Given the description of an element on the screen output the (x, y) to click on. 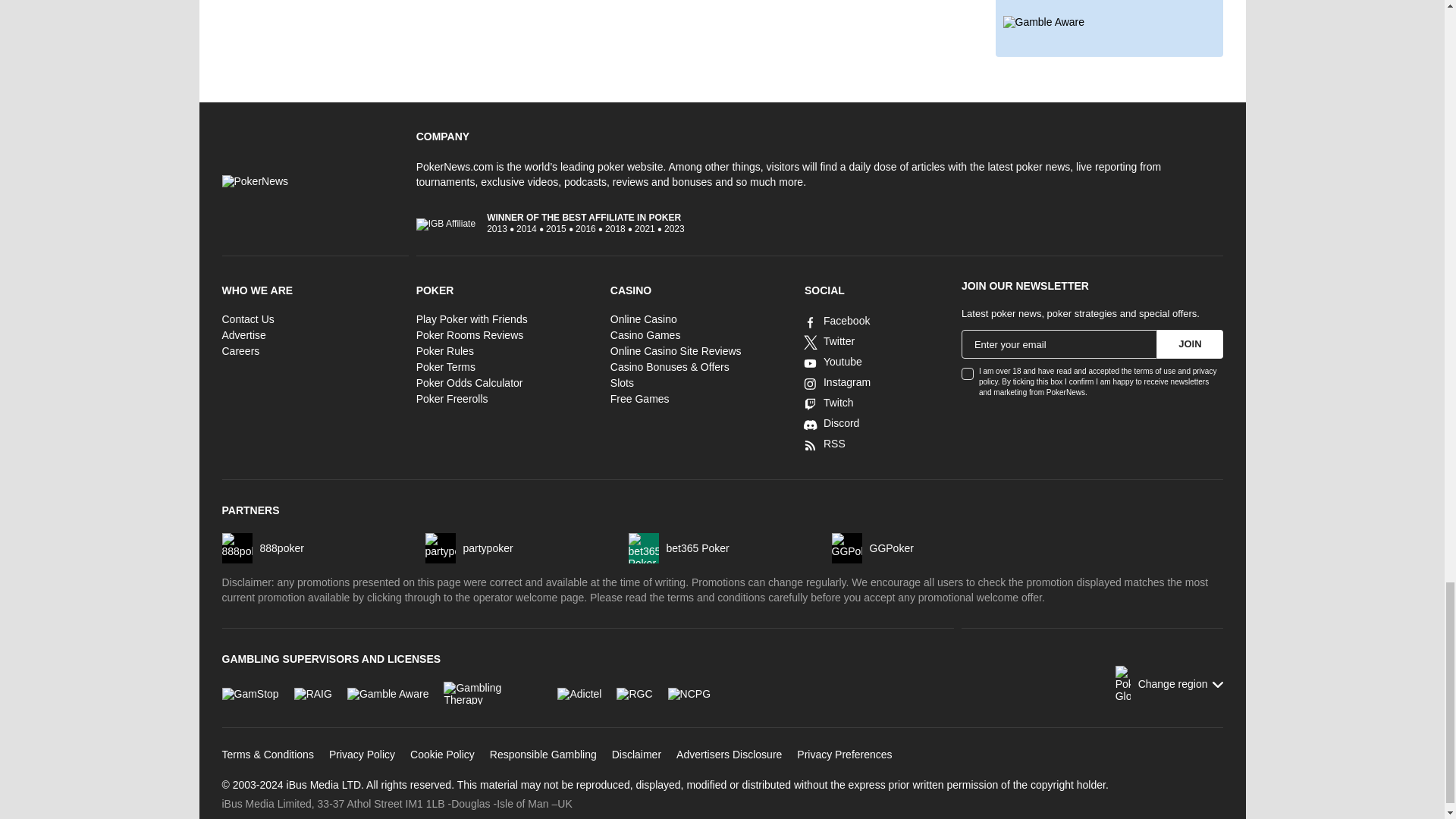
GambleAware (388, 692)
National Council on Problem Gambling (689, 692)
Gambling Therapy (492, 692)
Raig (312, 692)
Responsible Gambling Council (633, 692)
GamStop (249, 692)
Adictel (579, 692)
on (967, 373)
